Given the description of an element on the screen output the (x, y) to click on. 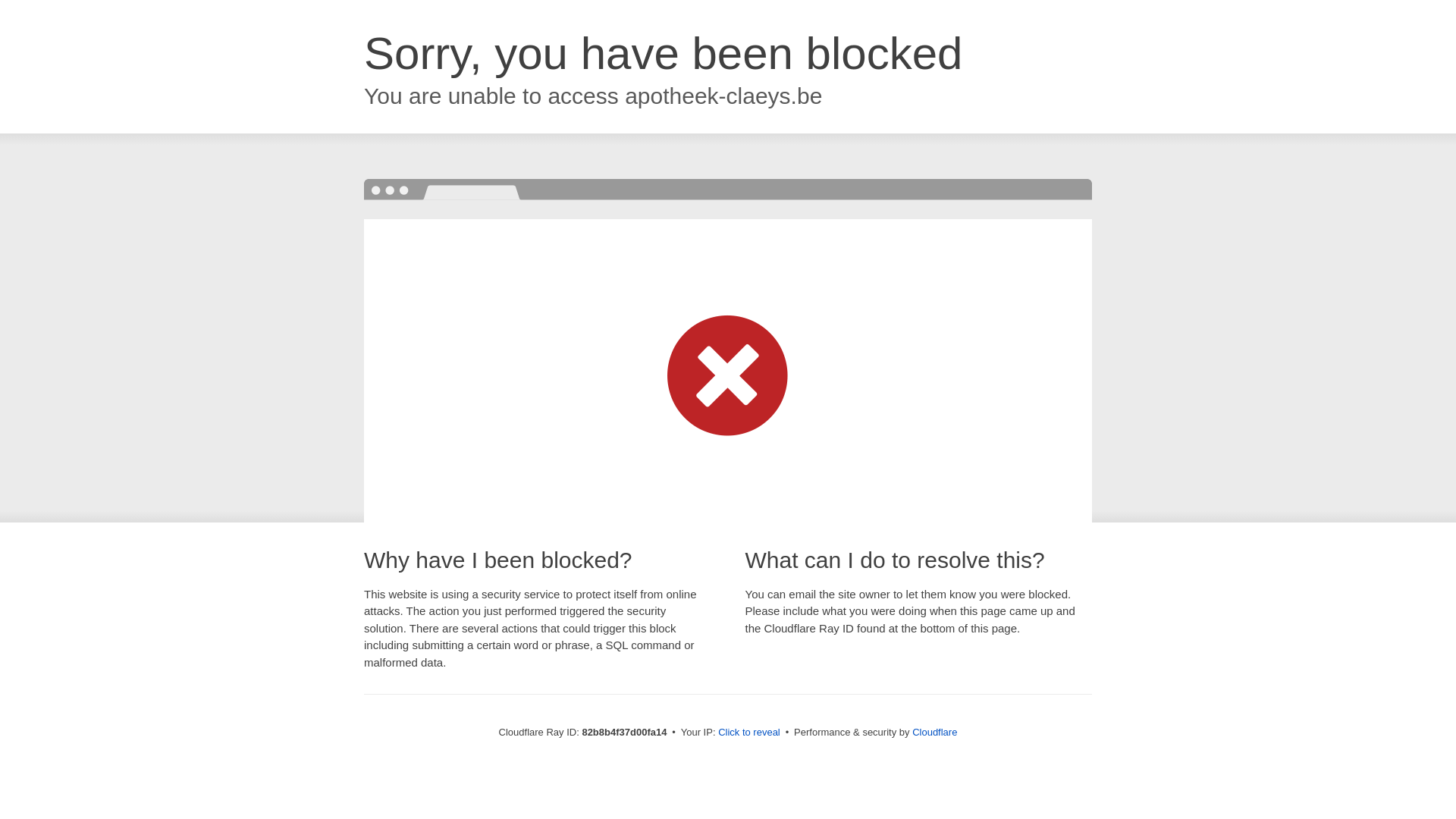
Cloudflare Element type: text (934, 731)
Click to reveal Element type: text (749, 732)
